Given the description of an element on the screen output the (x, y) to click on. 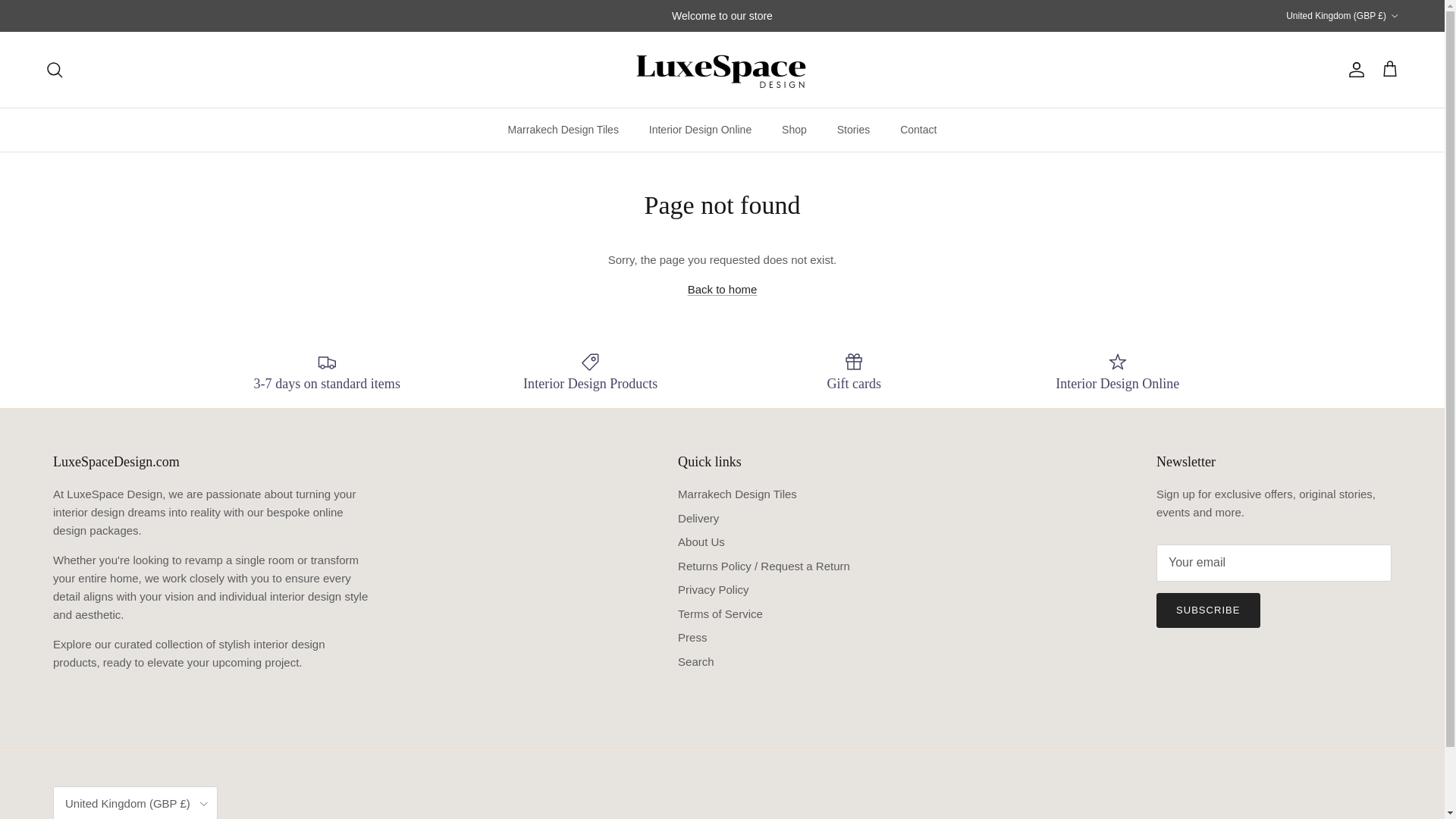
LuxeSpace Design (722, 69)
Cart (1389, 69)
Account (1352, 69)
Search (54, 69)
Interior Design Online (699, 129)
Marrakech Design Tiles (563, 129)
Shop (794, 129)
